Given the description of an element on the screen output the (x, y) to click on. 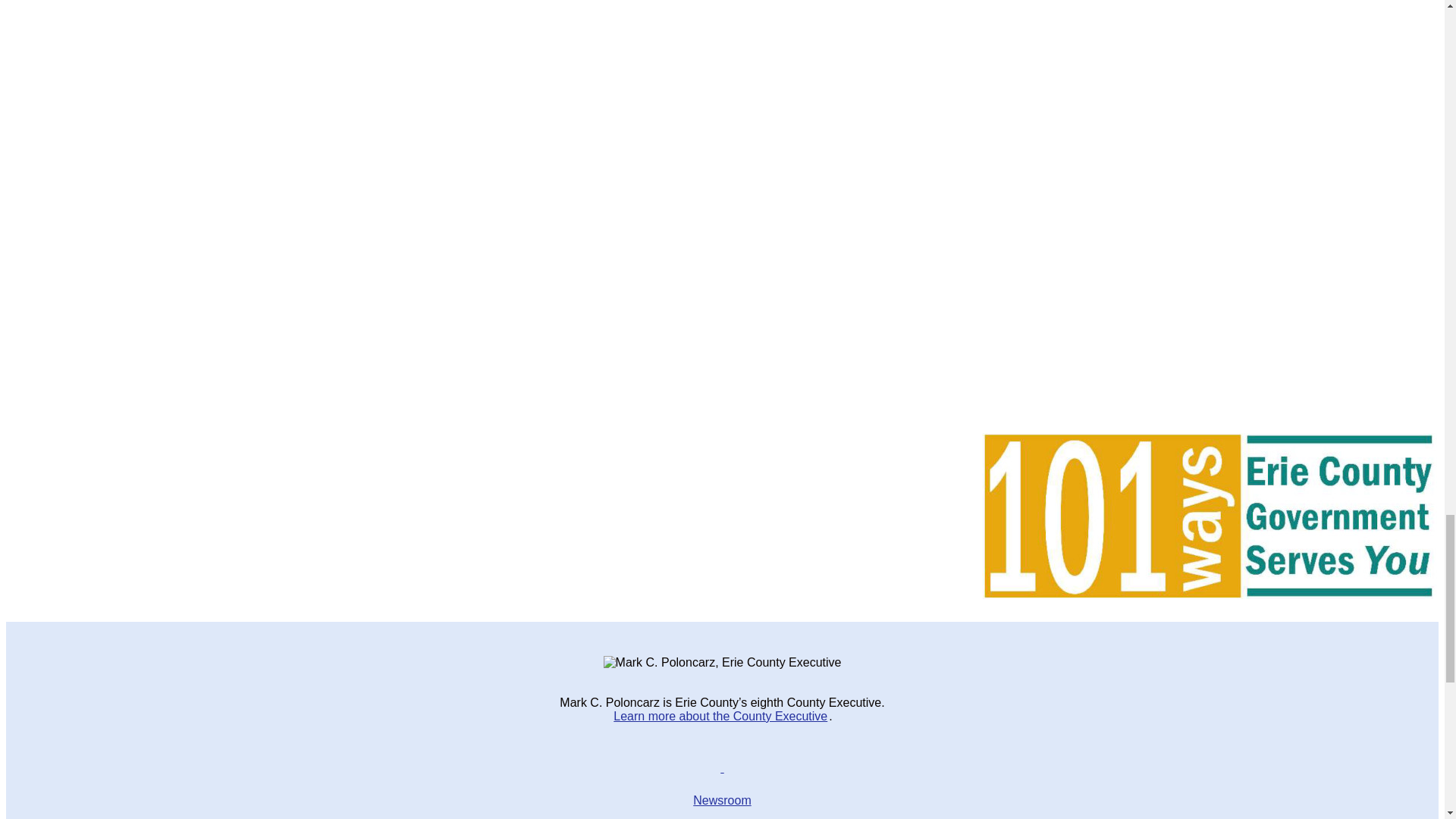
Newsroom (721, 800)
Learn more about the County Executive (719, 715)
